Given the description of an element on the screen output the (x, y) to click on. 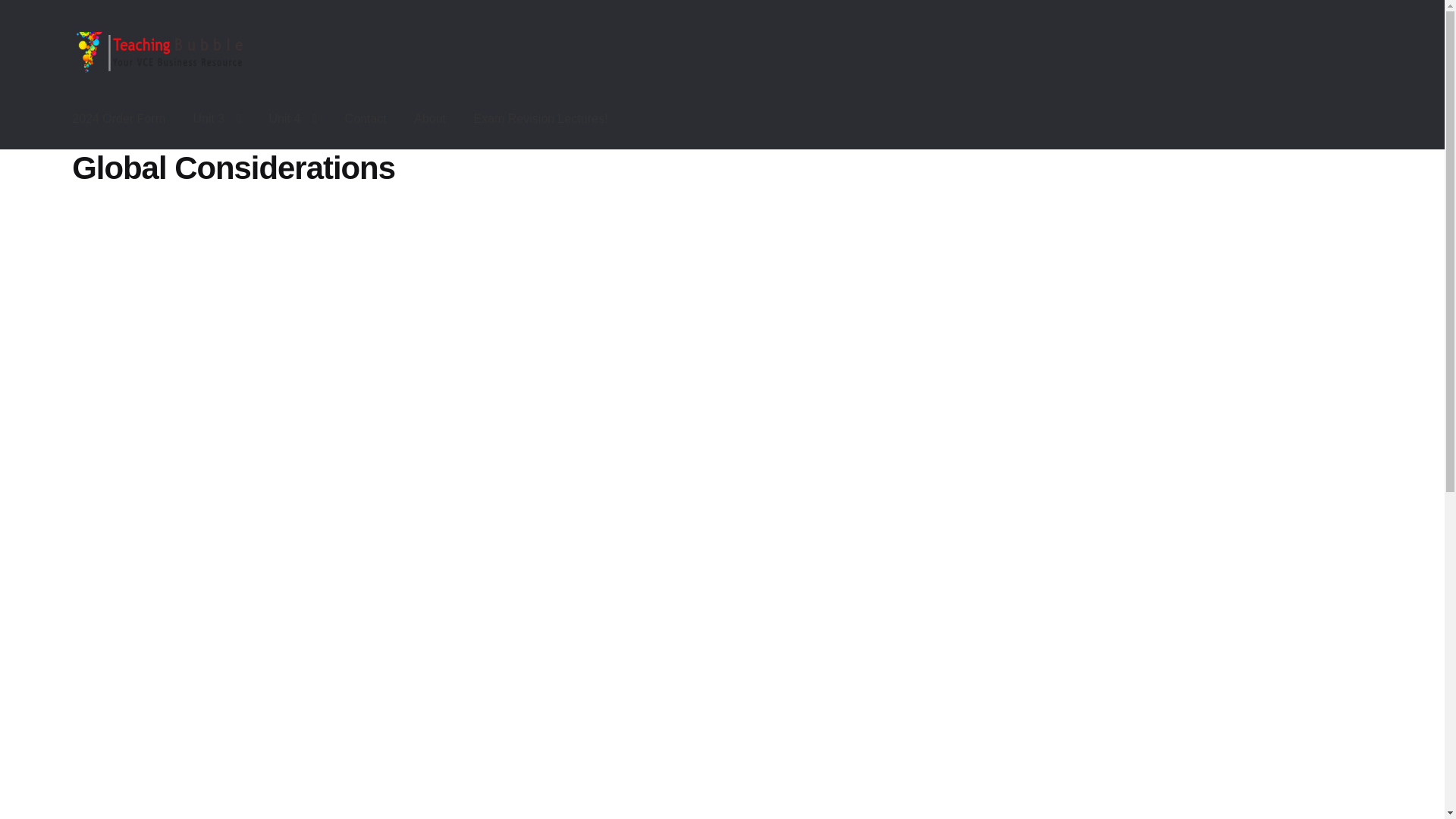
Unit 3 (216, 118)
Unit 4 (293, 118)
2024 Order Form (118, 118)
